Given the description of an element on the screen output the (x, y) to click on. 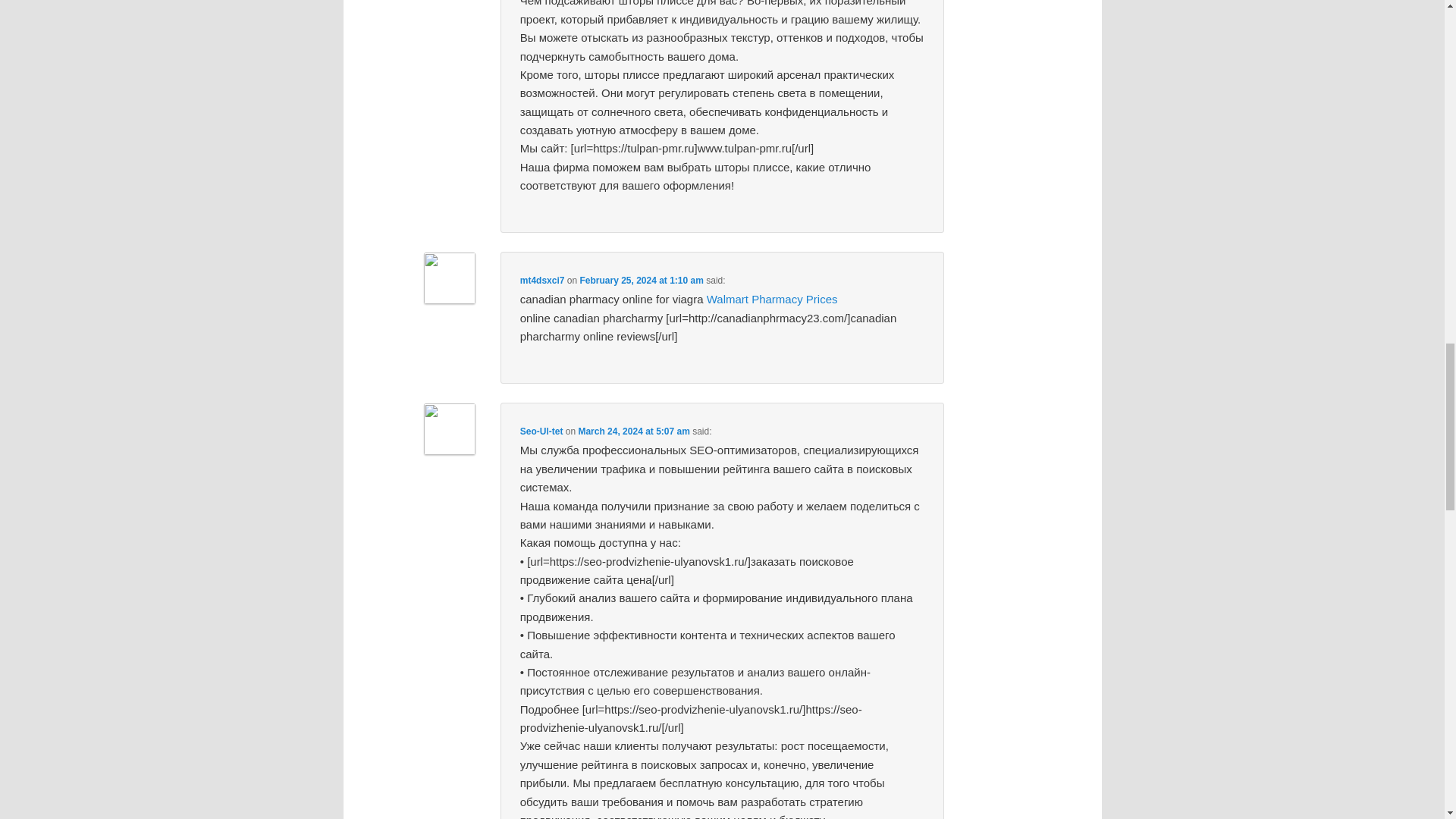
March 24, 2024 at 5:07 am (633, 430)
February 25, 2024 at 1:10 am (641, 280)
mt4dsxci7 (541, 280)
Seo-Ul-tet (541, 430)
Walmart Pharmacy Prices (772, 298)
